Given the description of an element on the screen output the (x, y) to click on. 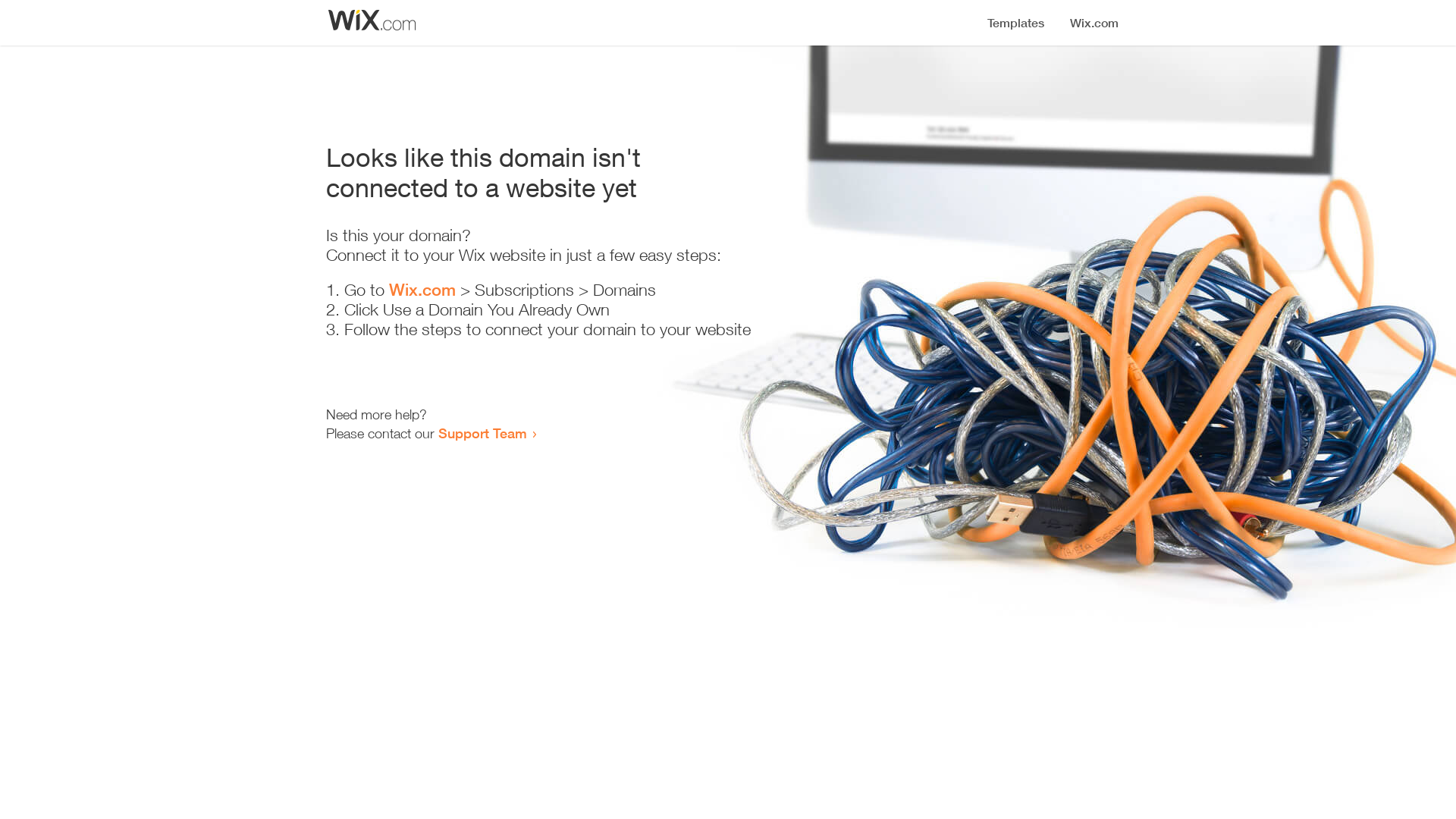
Wix.com Element type: text (422, 289)
Support Team Element type: text (482, 432)
